Given the description of an element on the screen output the (x, y) to click on. 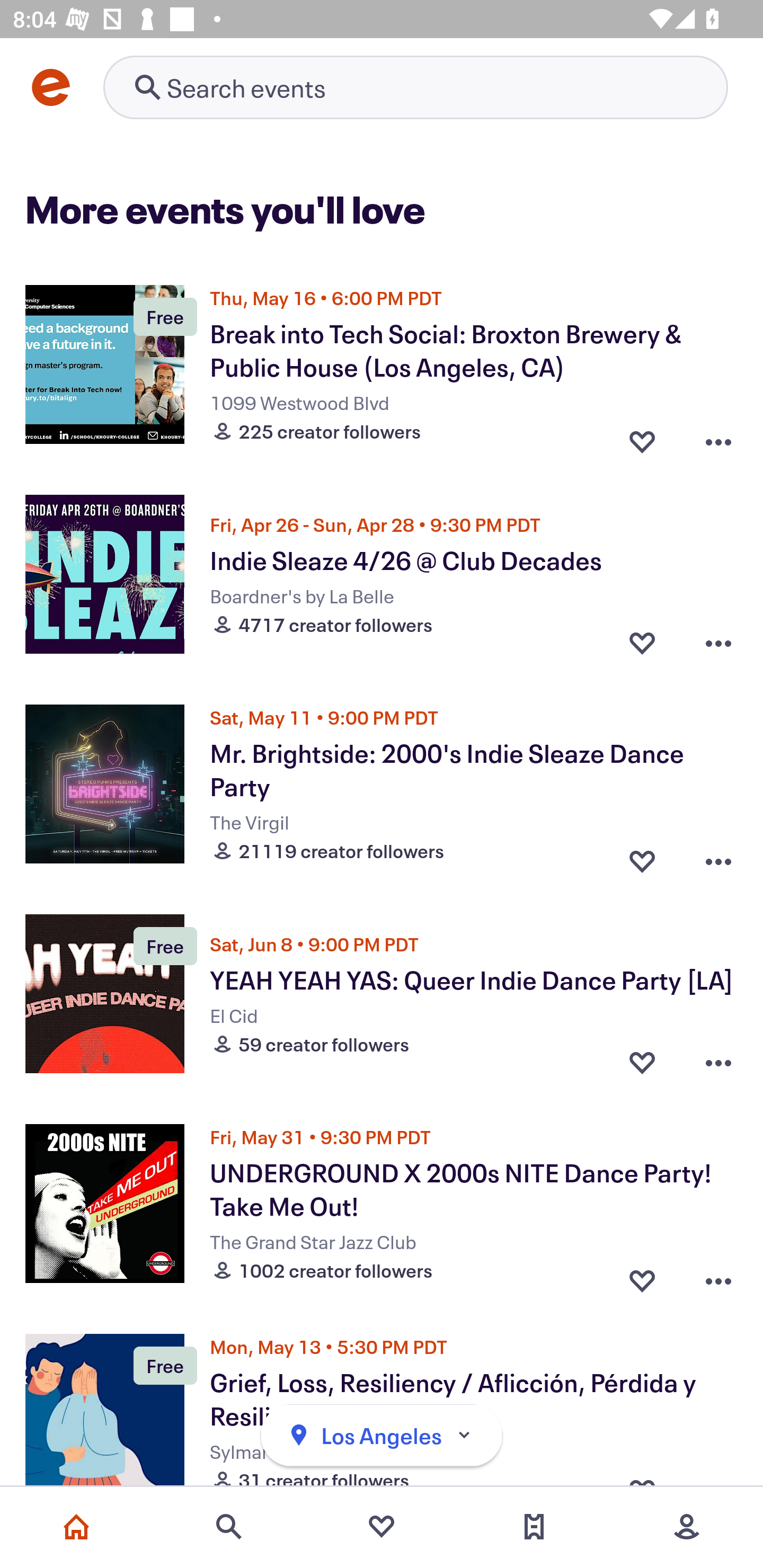
Retry's image Search events (415, 86)
Favorite button (642, 436)
Overflow menu button (718, 436)
Favorite button (642, 641)
Overflow menu button (718, 641)
Favorite button (642, 856)
Overflow menu button (718, 856)
Favorite button (642, 1062)
Overflow menu button (718, 1062)
Favorite button (642, 1275)
Overflow menu button (718, 1275)
Los Angeles (381, 1435)
Home (76, 1526)
Search events (228, 1526)
Favorites (381, 1526)
Tickets (533, 1526)
More (686, 1526)
